Given the description of an element on the screen output the (x, y) to click on. 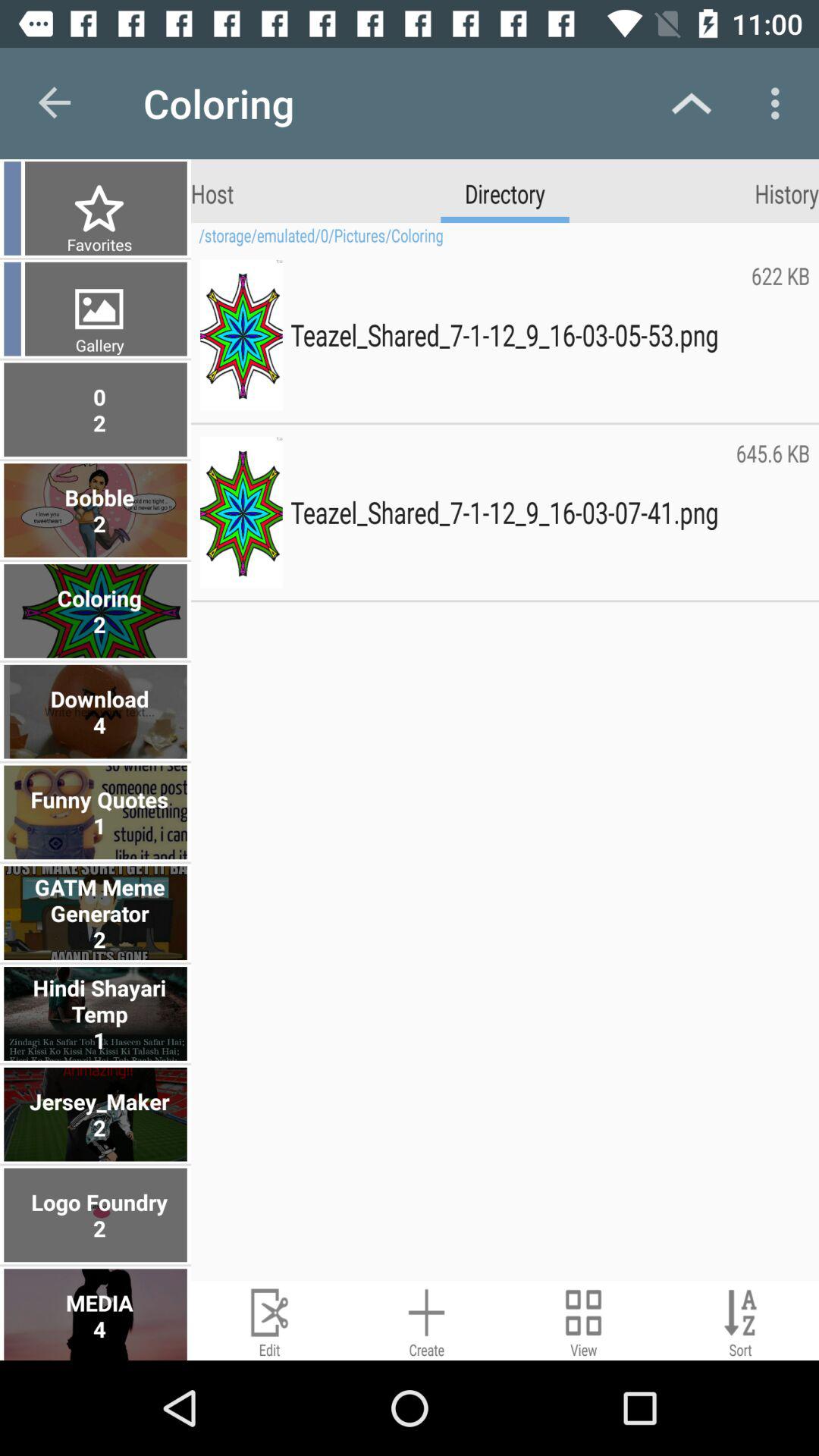
turn off the icon next to the teazel_shared_7 1 12_9_16 icon (780, 334)
